Given the description of an element on the screen output the (x, y) to click on. 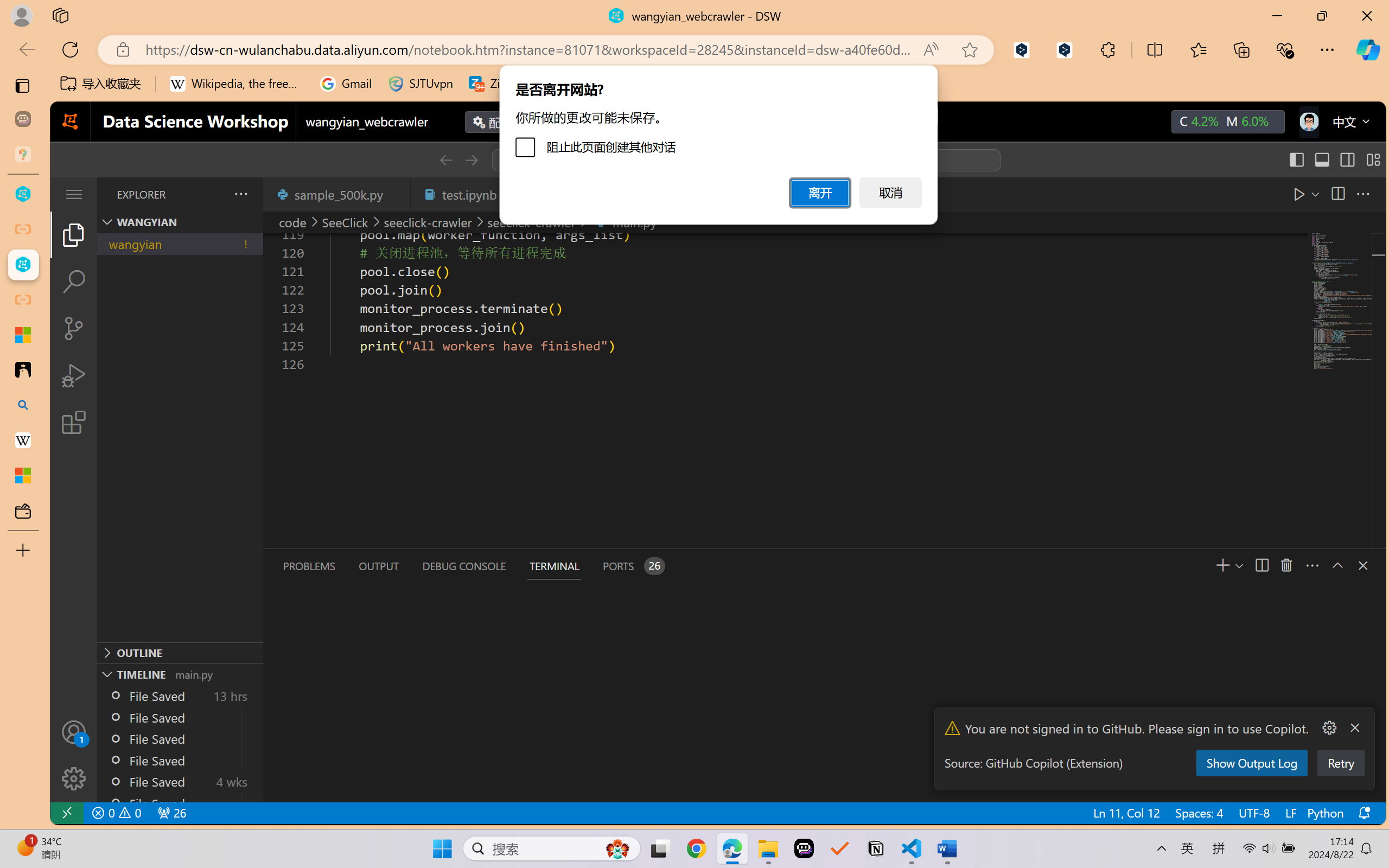
Outline Section (179, 652)
Views and More Actions... (1311, 565)
No Problems (115, 812)
Clear Notification (Delete) (1354, 727)
Split Editor Right (Ctrl+\) [Alt] Split Editor Down (1337, 193)
remote (66, 812)
